Given the description of an element on the screen output the (x, y) to click on. 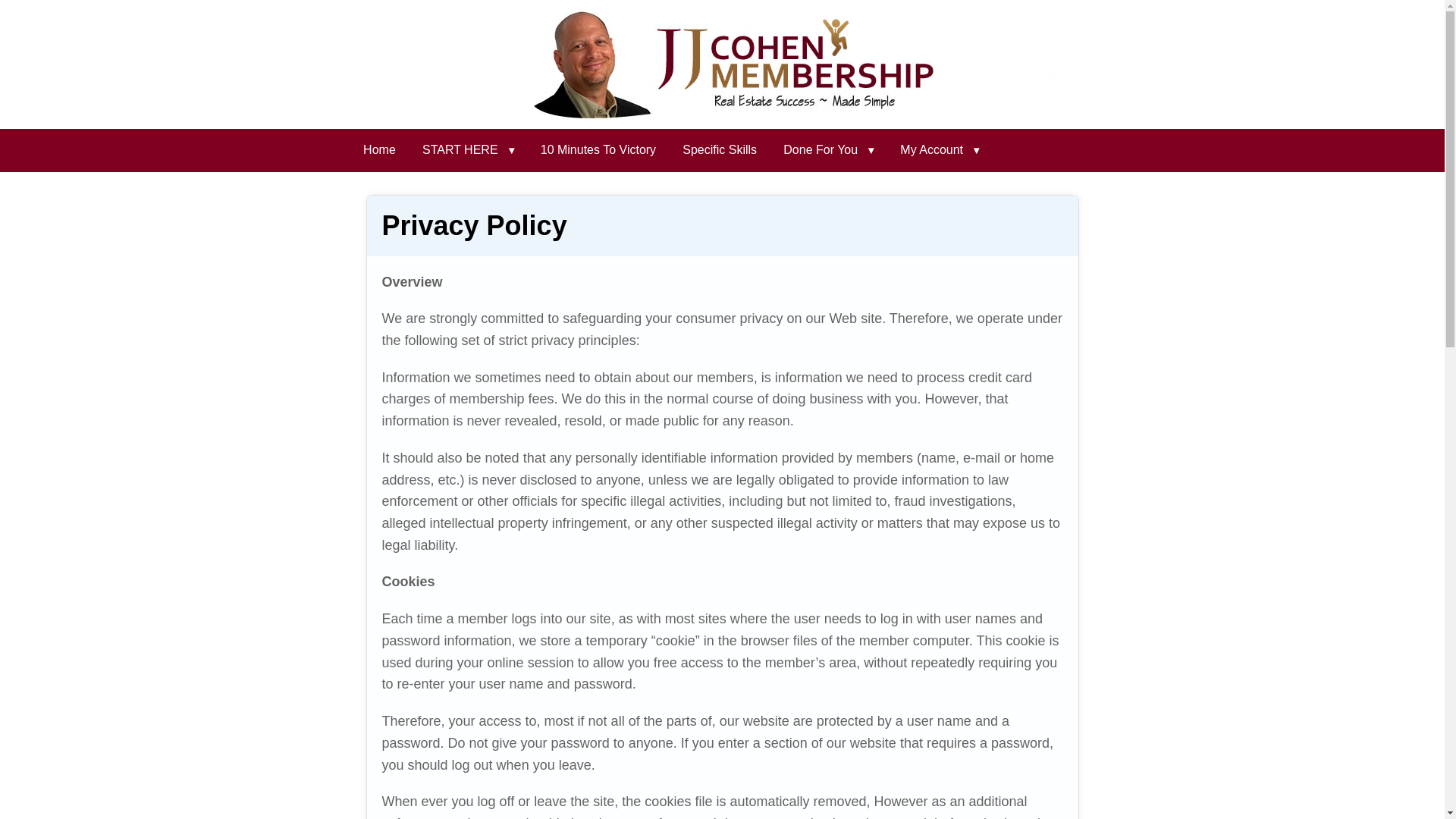
Done For You (828, 149)
START HERE (468, 149)
My Account (939, 149)
Specific Skills (719, 149)
Home (379, 149)
10 Minutes To Victory (598, 149)
